Given the description of an element on the screen output the (x, y) to click on. 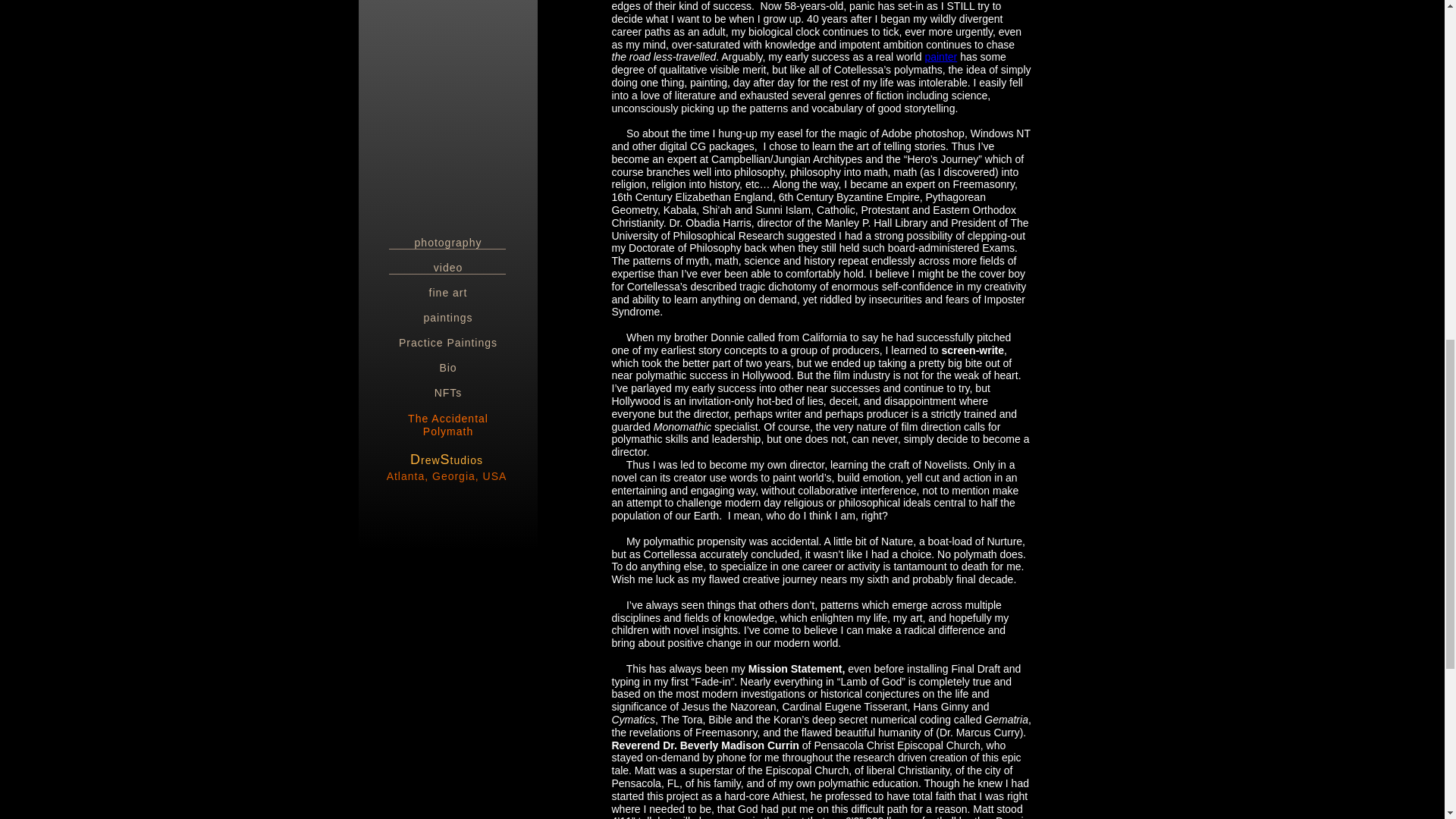
painter (940, 56)
